Given the description of an element on the screen output the (x, y) to click on. 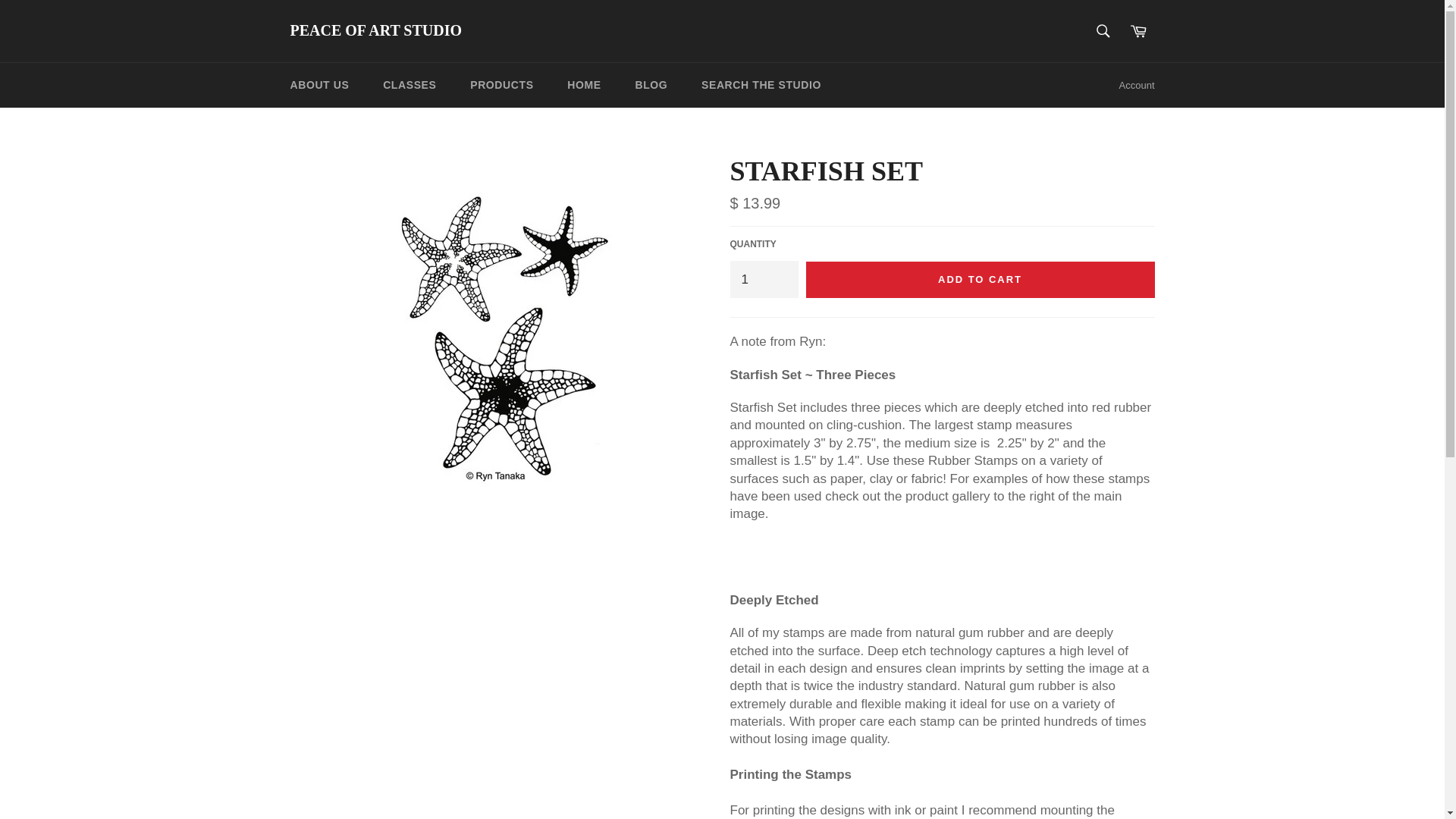
BLOG (651, 85)
Search (1103, 30)
ADD TO CART (979, 279)
PEACE OF ART STUDIO (375, 30)
PRODUCTS (501, 85)
SEARCH THE STUDIO (760, 85)
HOME (583, 85)
Account (1136, 85)
ABOUT US (319, 85)
1 (763, 279)
Cart (1138, 30)
CLASSES (409, 85)
